Given the description of an element on the screen output the (x, y) to click on. 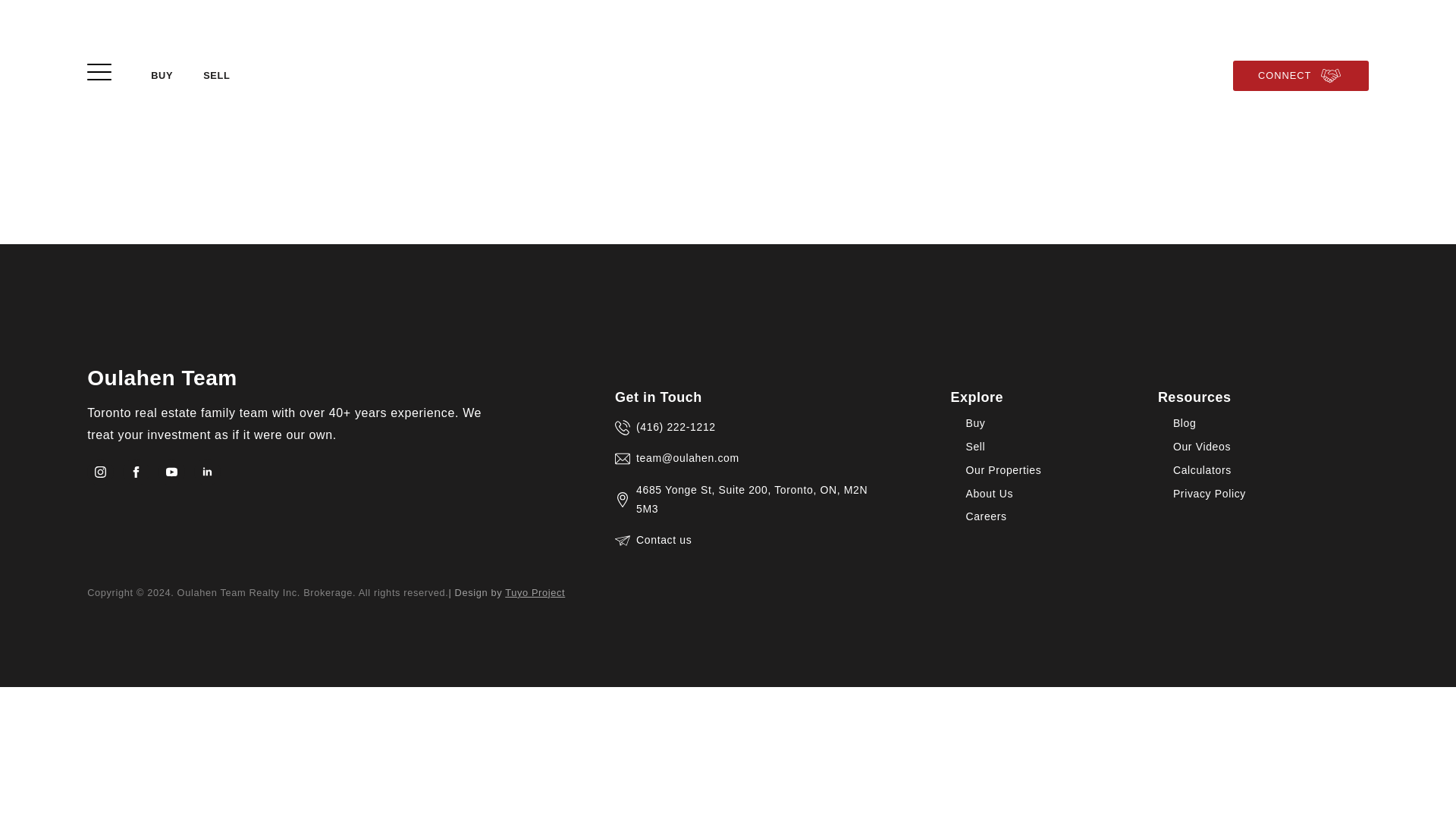
Our Properties (1023, 476)
Sell (1023, 453)
Careers (1023, 522)
Contact us (751, 539)
About Us (1023, 499)
SELL (215, 76)
BUY (161, 76)
CONNECT (1300, 75)
Buy (1023, 429)
